Given the description of an element on the screen output the (x, y) to click on. 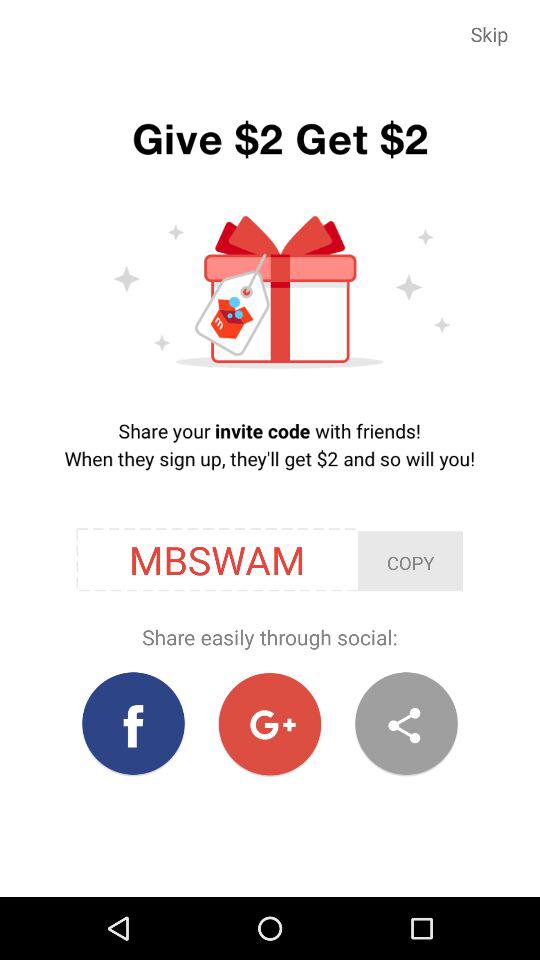
select item at the bottom right corner (406, 724)
